Given the description of an element on the screen output the (x, y) to click on. 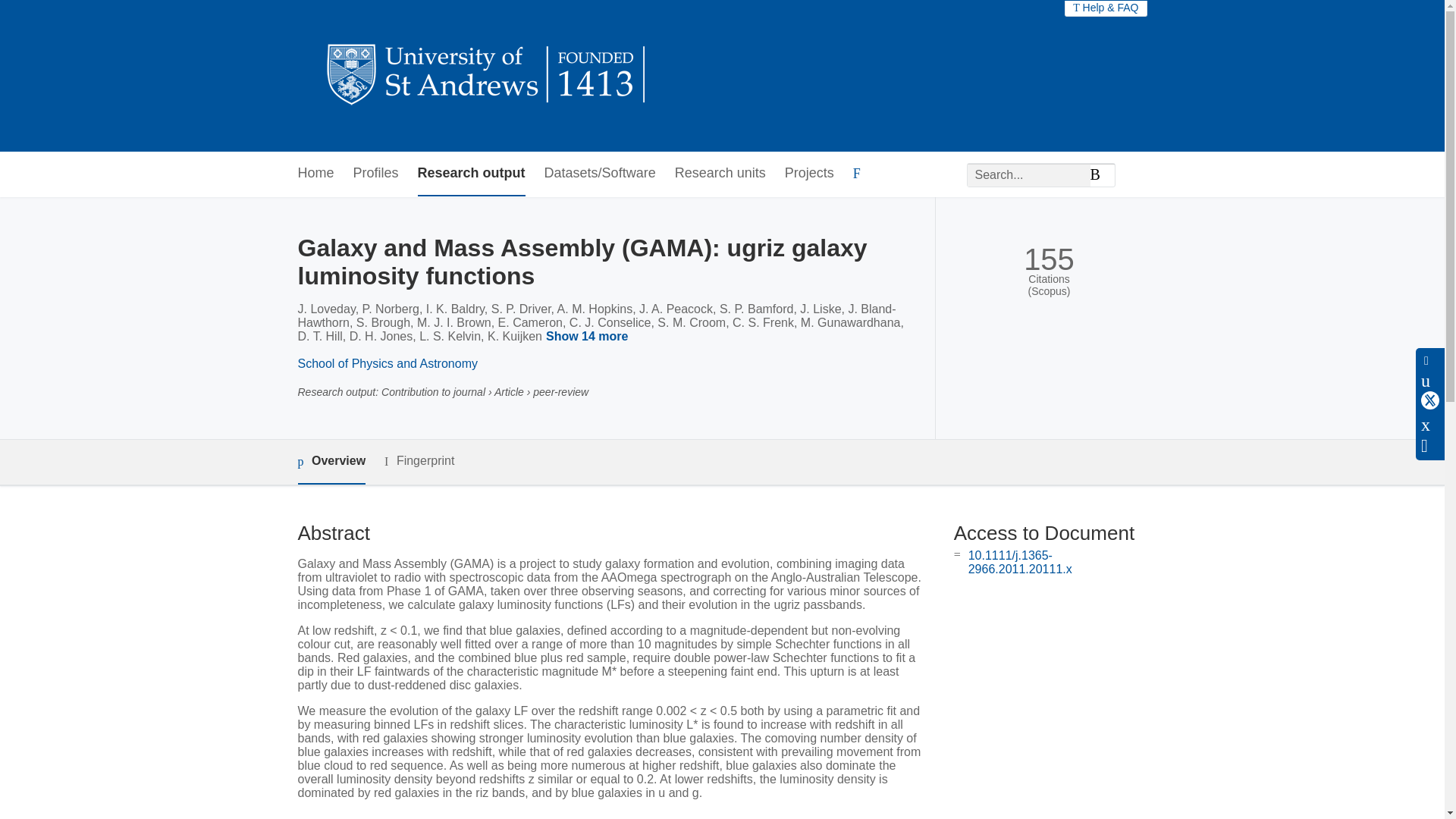
Research units (720, 173)
University of St Andrews Research Portal Home (487, 75)
Profiles (375, 173)
Show 14 more (589, 337)
Research output (471, 173)
School of Physics and Astronomy (387, 363)
Overview (331, 461)
Fingerprint (419, 461)
Projects (809, 173)
